Given the description of an element on the screen output the (x, y) to click on. 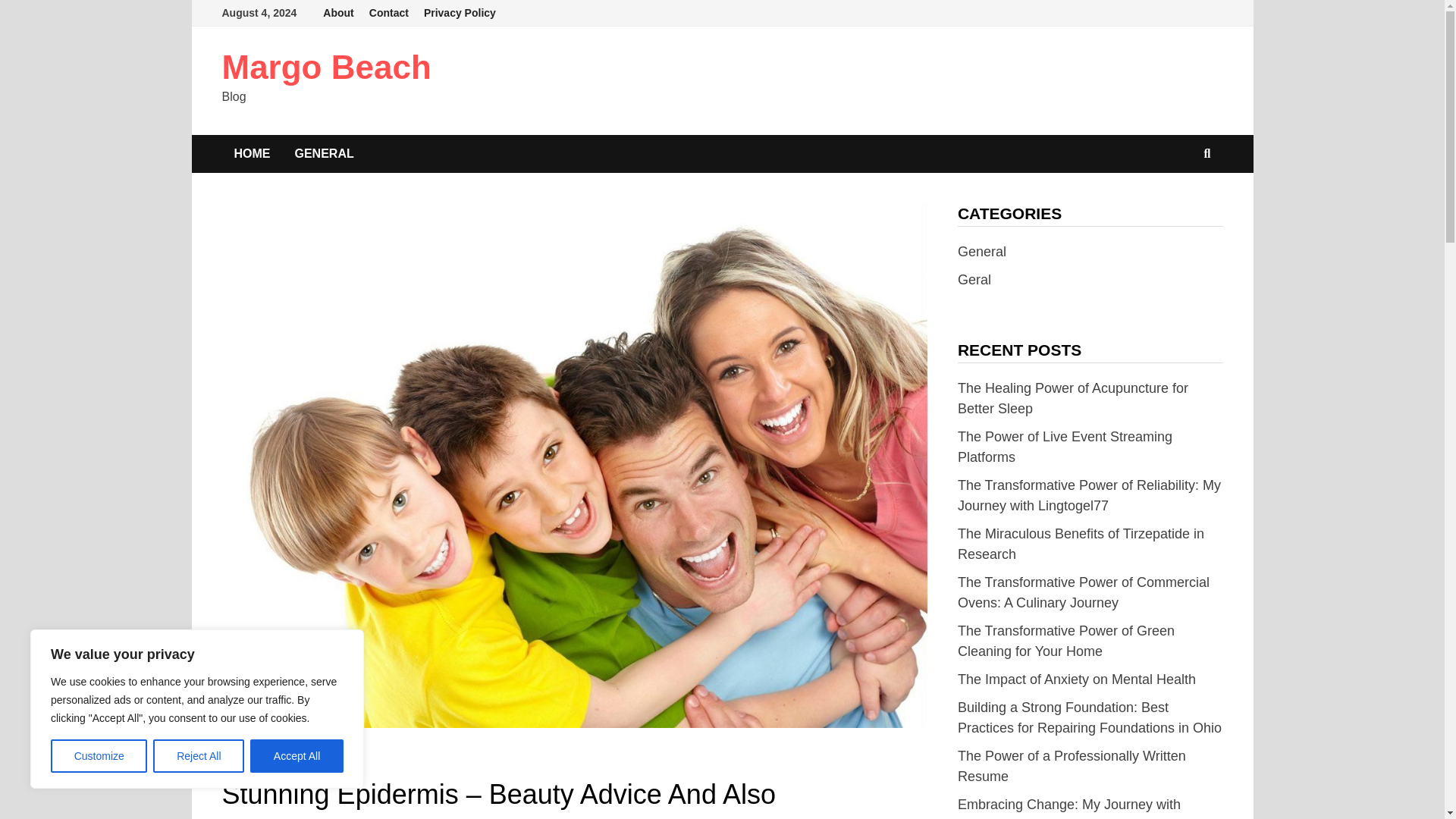
HOME (251, 153)
Reject All (198, 756)
Accept All (296, 756)
GENERAL (247, 761)
Margo Beach (325, 66)
About (338, 13)
Customize (98, 756)
Contact (388, 13)
Privacy Policy (459, 13)
GENERAL (323, 153)
